Given the description of an element on the screen output the (x, y) to click on. 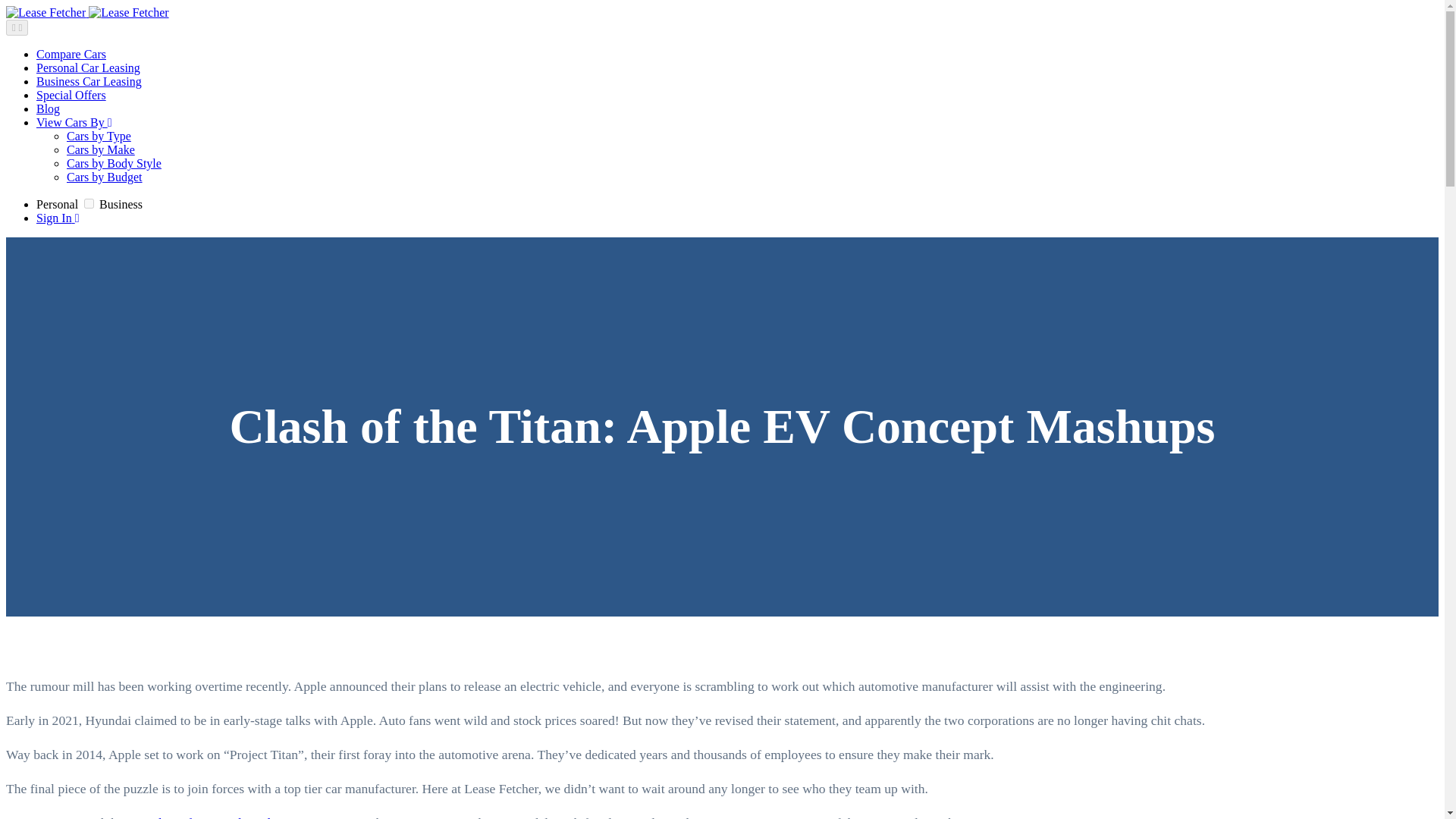
Cars by Make (100, 149)
Sign In (58, 217)
Cars by Type (98, 135)
Cars by Body Style (113, 163)
Blog (47, 108)
Business Car Leasing (88, 81)
renders of potential Apple EV concepts (242, 816)
View Cars By (74, 122)
Compare Cars (71, 53)
Cars by Budget (104, 176)
